Given the description of an element on the screen output the (x, y) to click on. 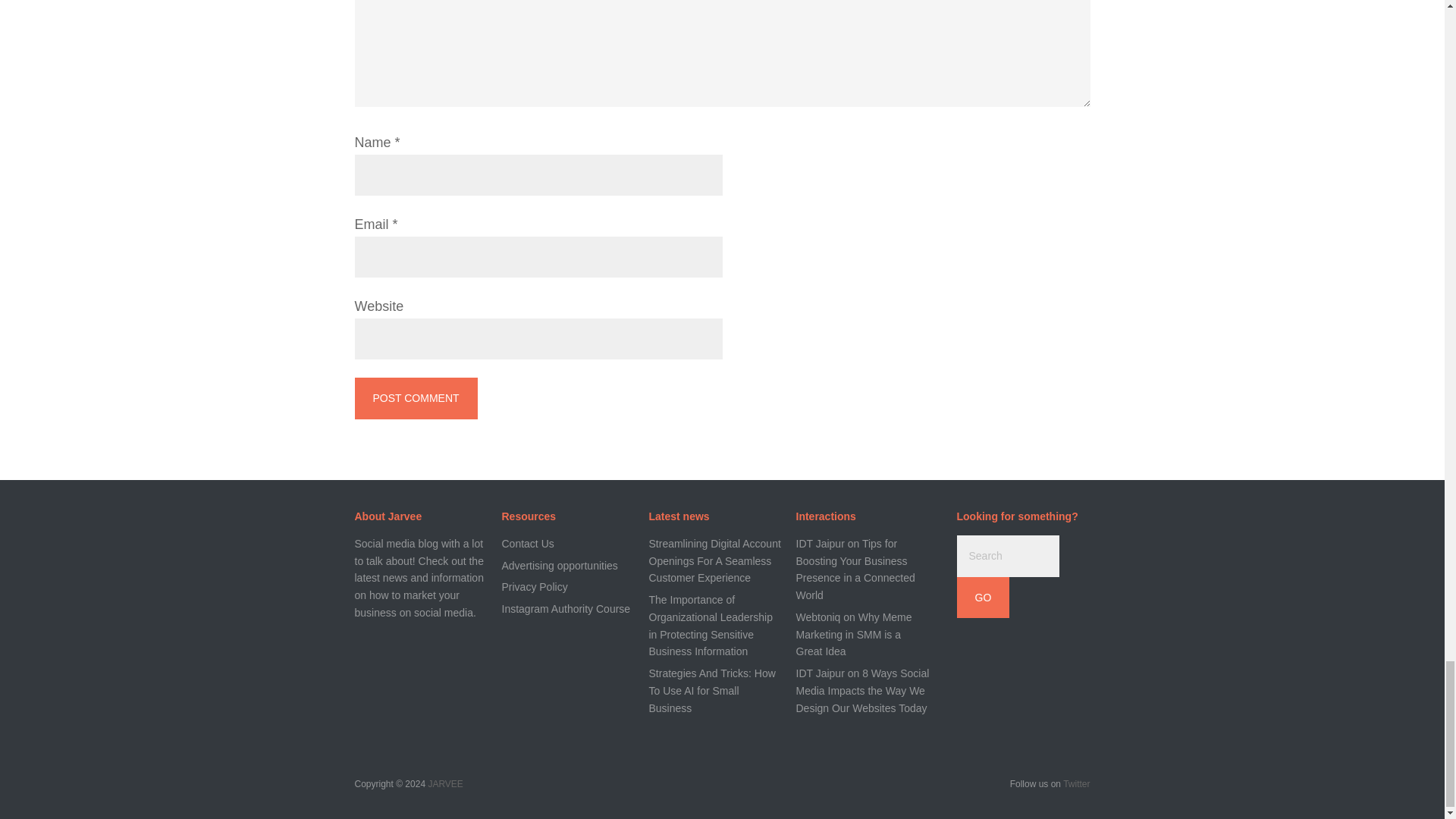
Instagram Authority Course (566, 608)
Twitter (1075, 783)
Strategies And Tricks: How To Use AI for Small Business (712, 690)
Go (983, 598)
Post Comment (416, 398)
Go (983, 598)
JARVEE (445, 783)
